Given the description of an element on the screen output the (x, y) to click on. 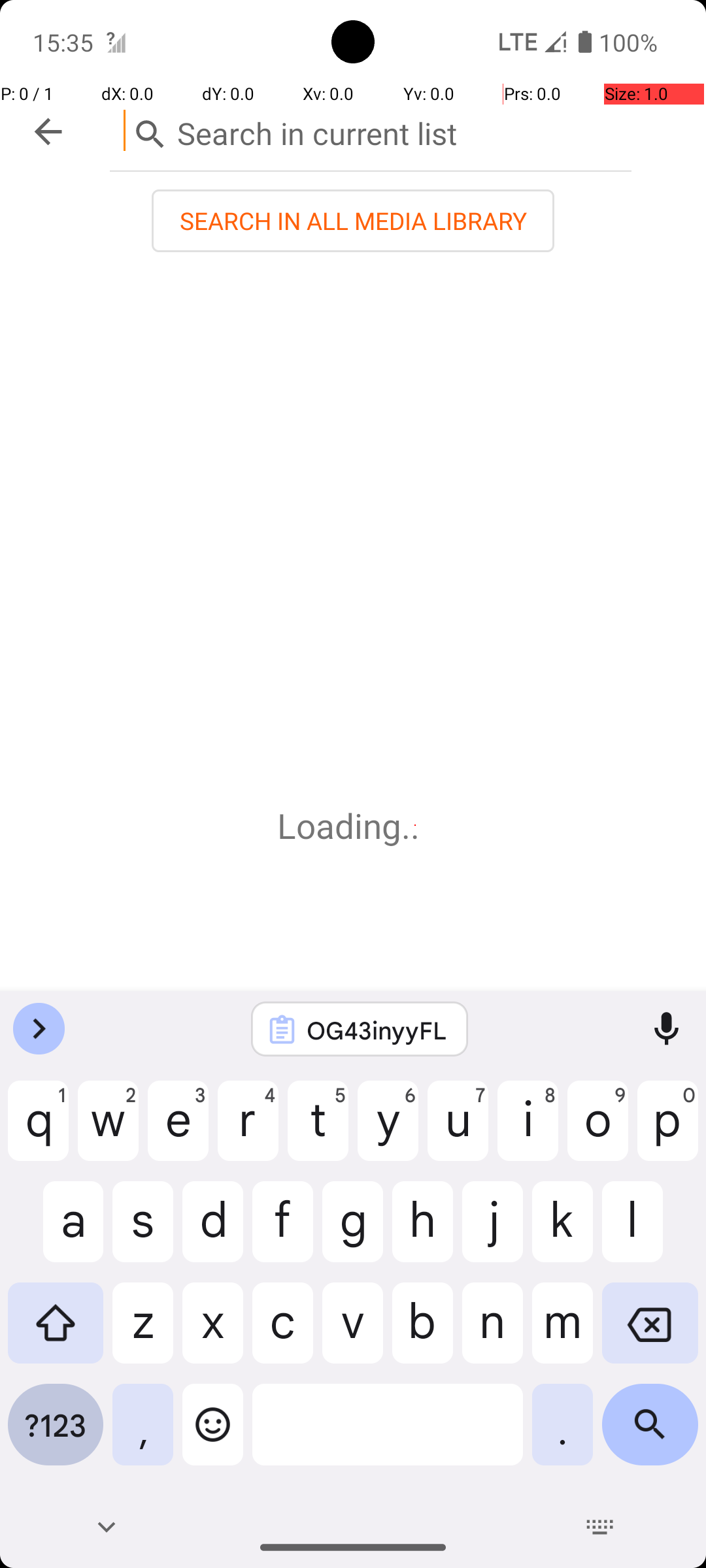
SEARCH IN ALL MEDIA LIBRARY Element type: android.widget.Button (352, 220)
.. Element type: android.widget.TextView (414, 825)
   Search in current list Element type: android.widget.AutoCompleteTextView (370, 130)
OG43inyyFL Element type: android.widget.TextView (376, 1029)
